Given the description of an element on the screen output the (x, y) to click on. 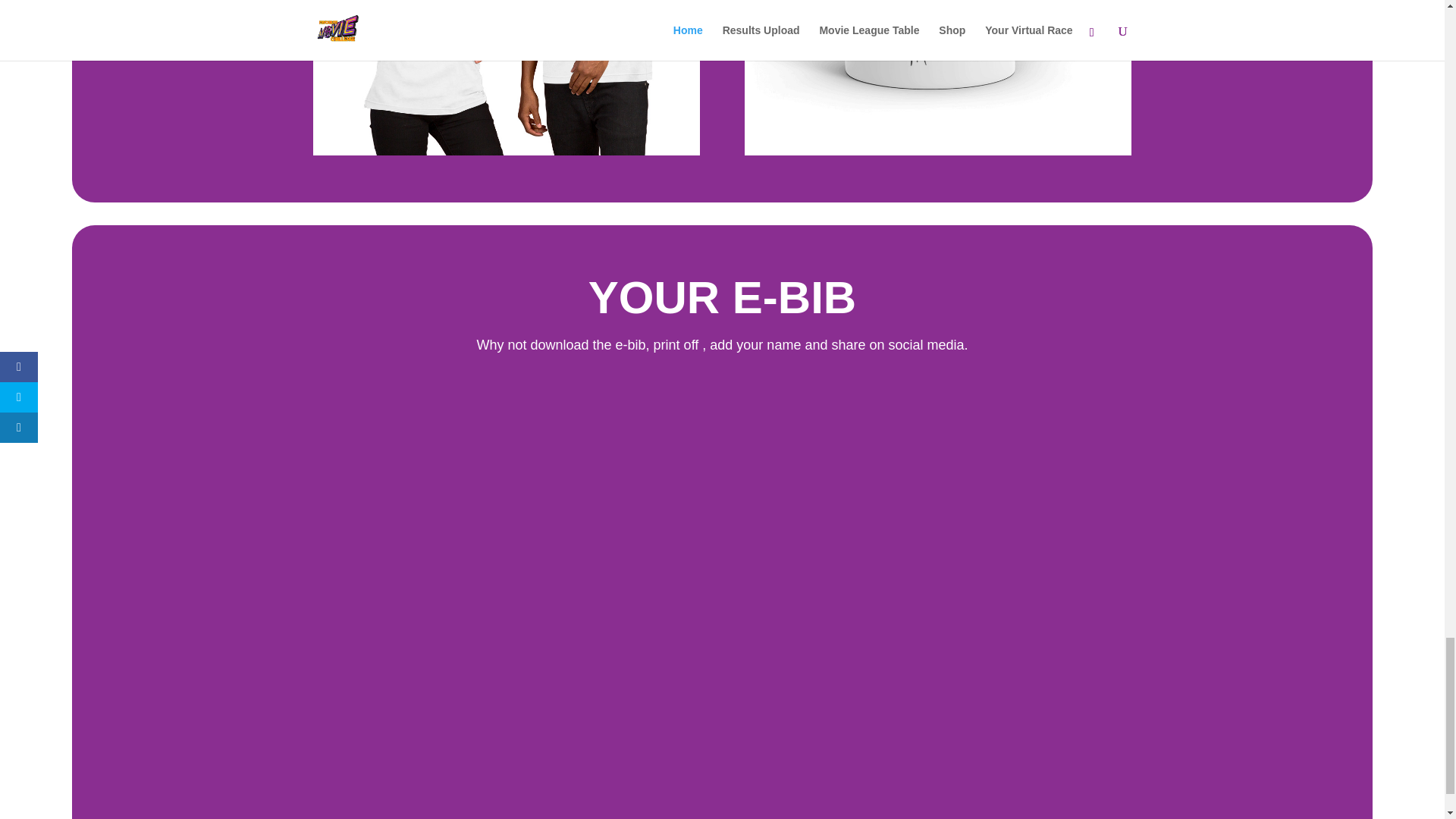
white-glossy-mug-11oz-handle-on-right-60e2dc2b2c716.jpg (937, 77)
unisex-premium-t-shirt-white-front-60e2df926a43e.jpg (505, 77)
